Given the description of an element on the screen output the (x, y) to click on. 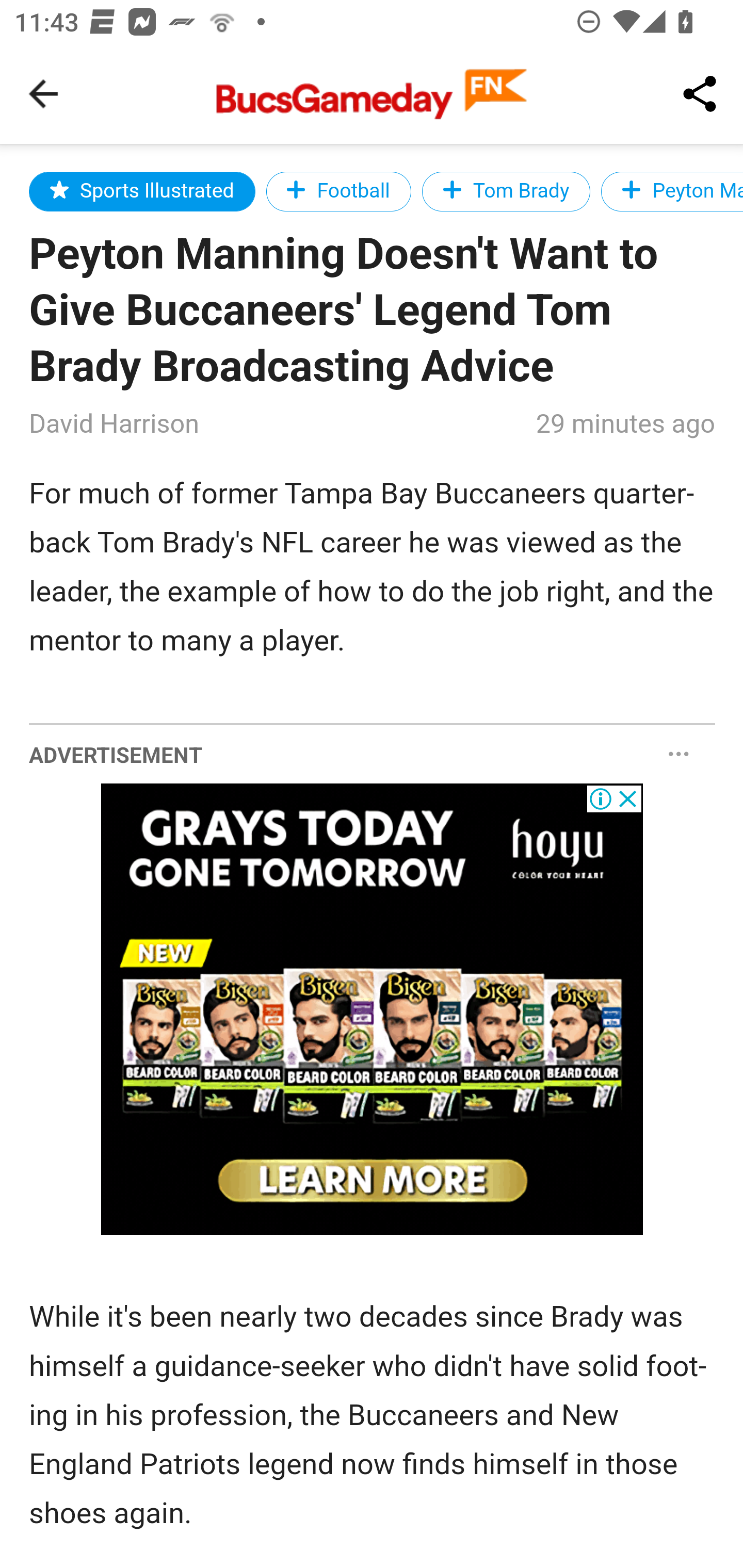
Sports Illustrated (142, 191)
Football (338, 191)
Tom Brady (506, 191)
